Given the description of an element on the screen output the (x, y) to click on. 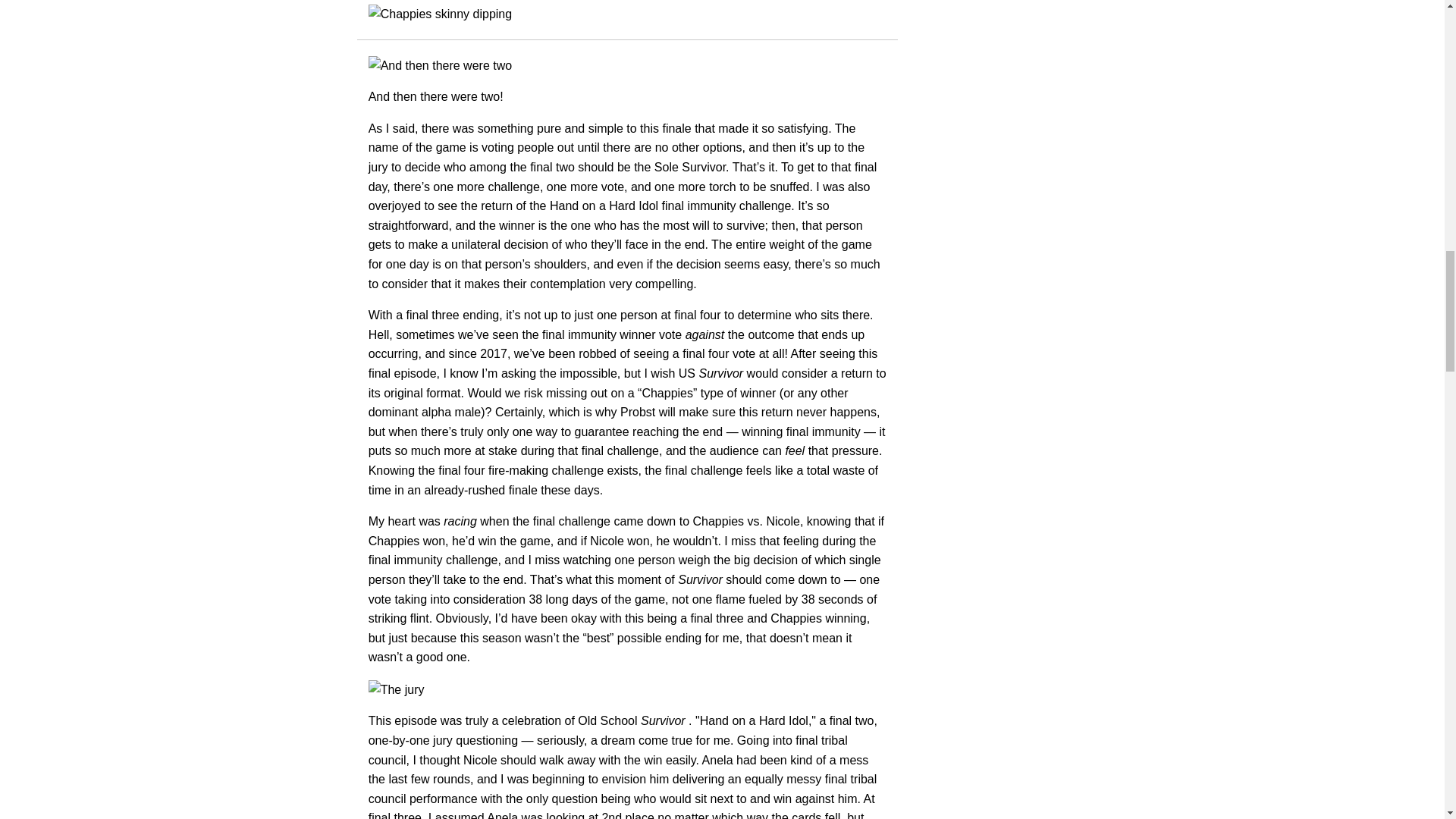
The jury (627, 690)
And then there were two (627, 66)
Chappies skinny dipping (627, 14)
